Given the description of an element on the screen output the (x, y) to click on. 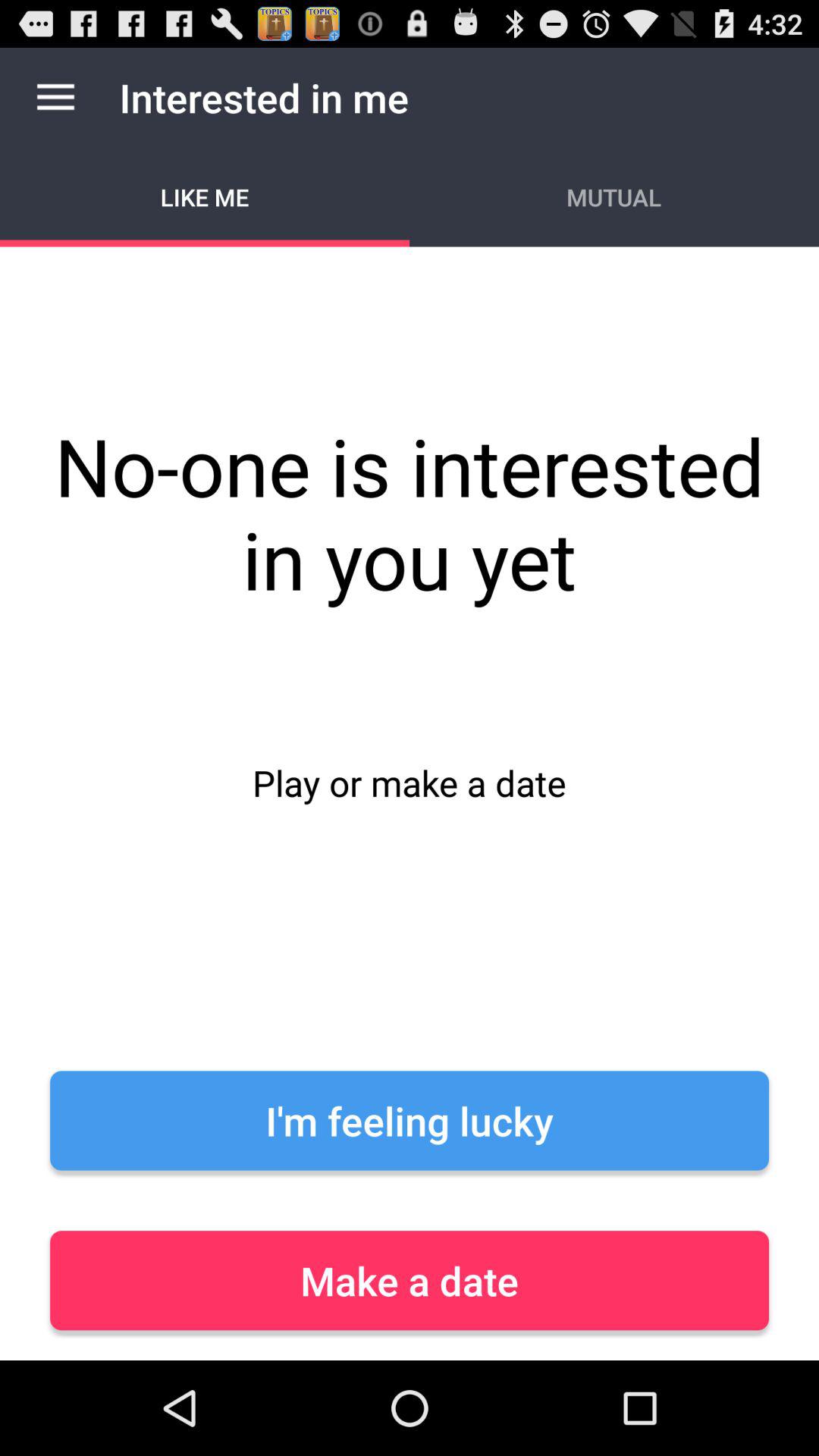
jump to i m feeling (409, 1120)
